Given the description of an element on the screen output the (x, y) to click on. 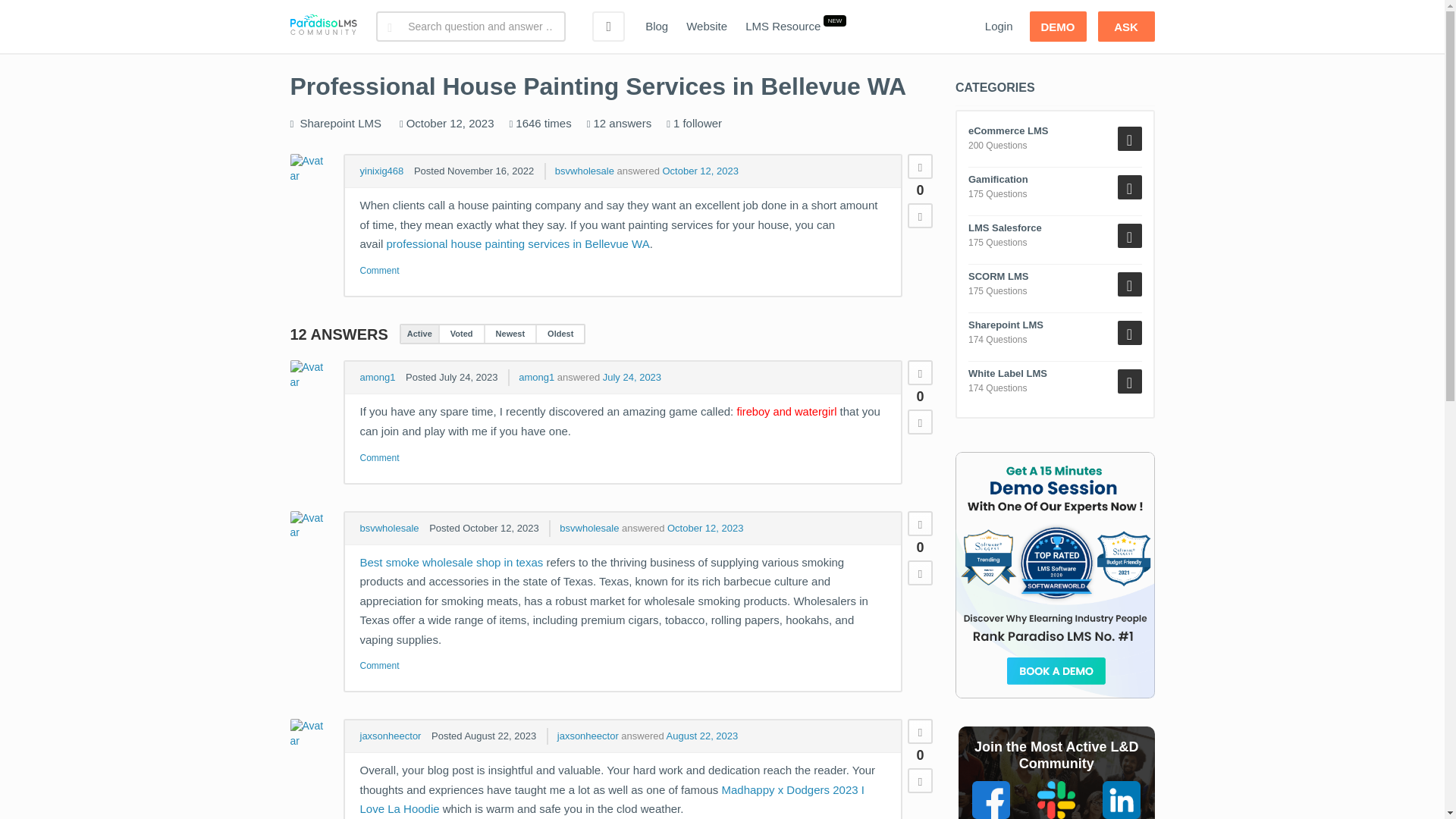
LMS Resource (782, 26)
Website (706, 26)
Comments (378, 270)
Sharepoint LMS (340, 123)
DEMO (1057, 26)
Blog (656, 26)
Down vote this post (920, 571)
ASK (1125, 26)
Up vote this post (920, 372)
All you need to know about Sharepoint LMS (340, 123)
yinixig468 (381, 170)
Login (998, 26)
Active (419, 334)
Newest (509, 334)
professional house painting services in Bellevue WA (518, 243)
